Given the description of an element on the screen output the (x, y) to click on. 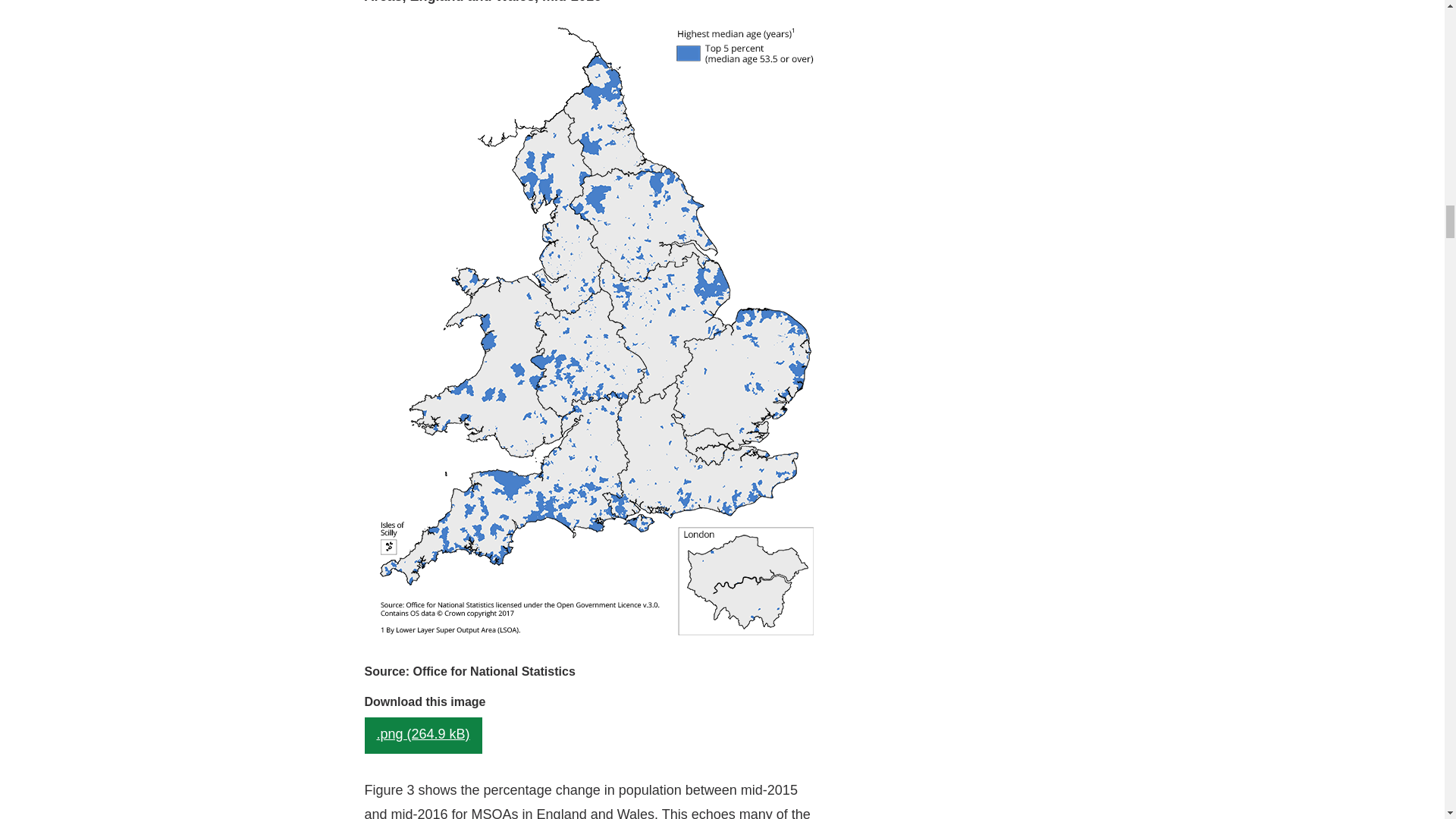
Download as png (422, 735)
